Given the description of an element on the screen output the (x, y) to click on. 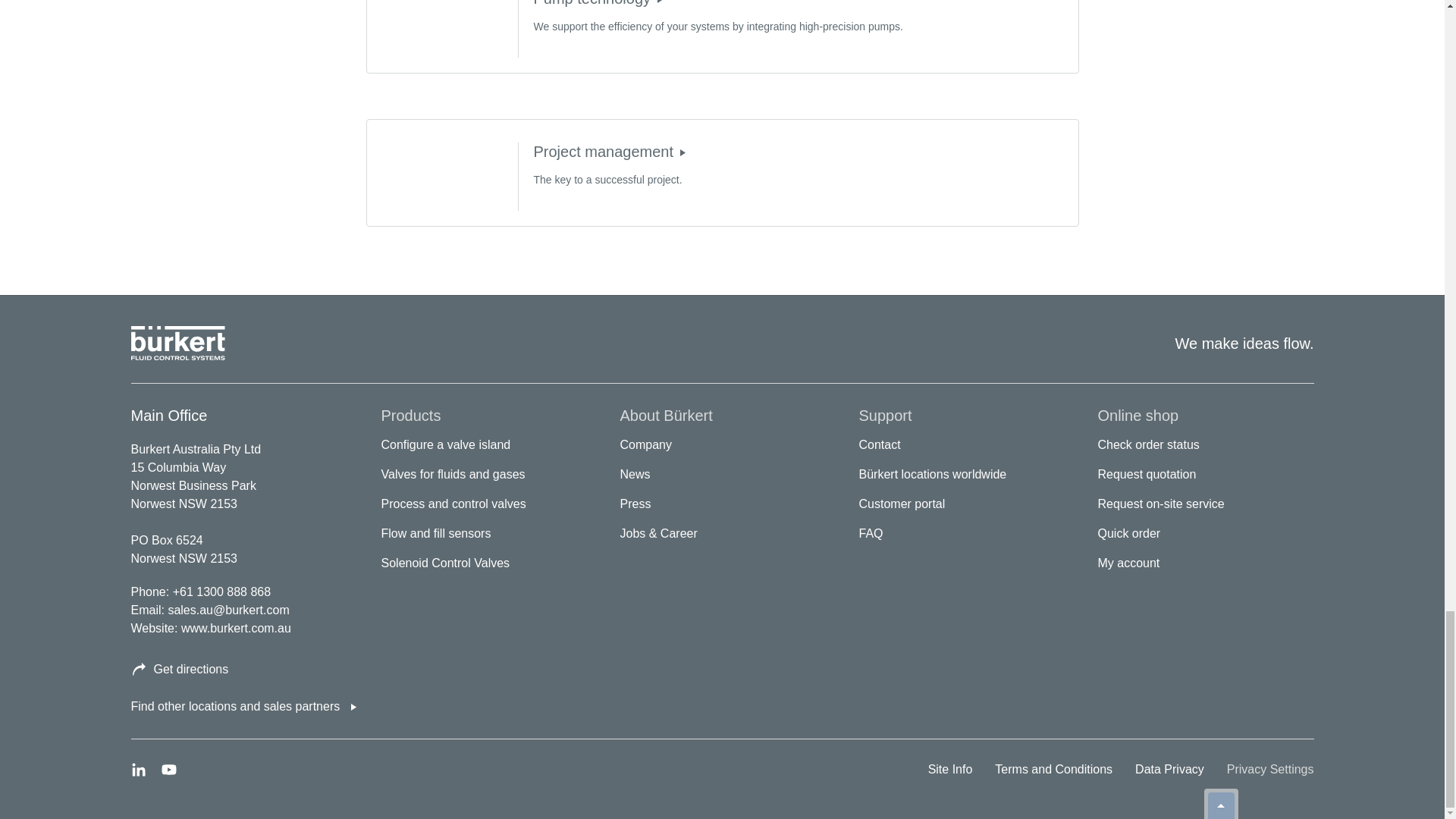
Pump technology (659, 3)
Project management (682, 151)
Buerkert logo (177, 343)
